Given the description of an element on the screen output the (x, y) to click on. 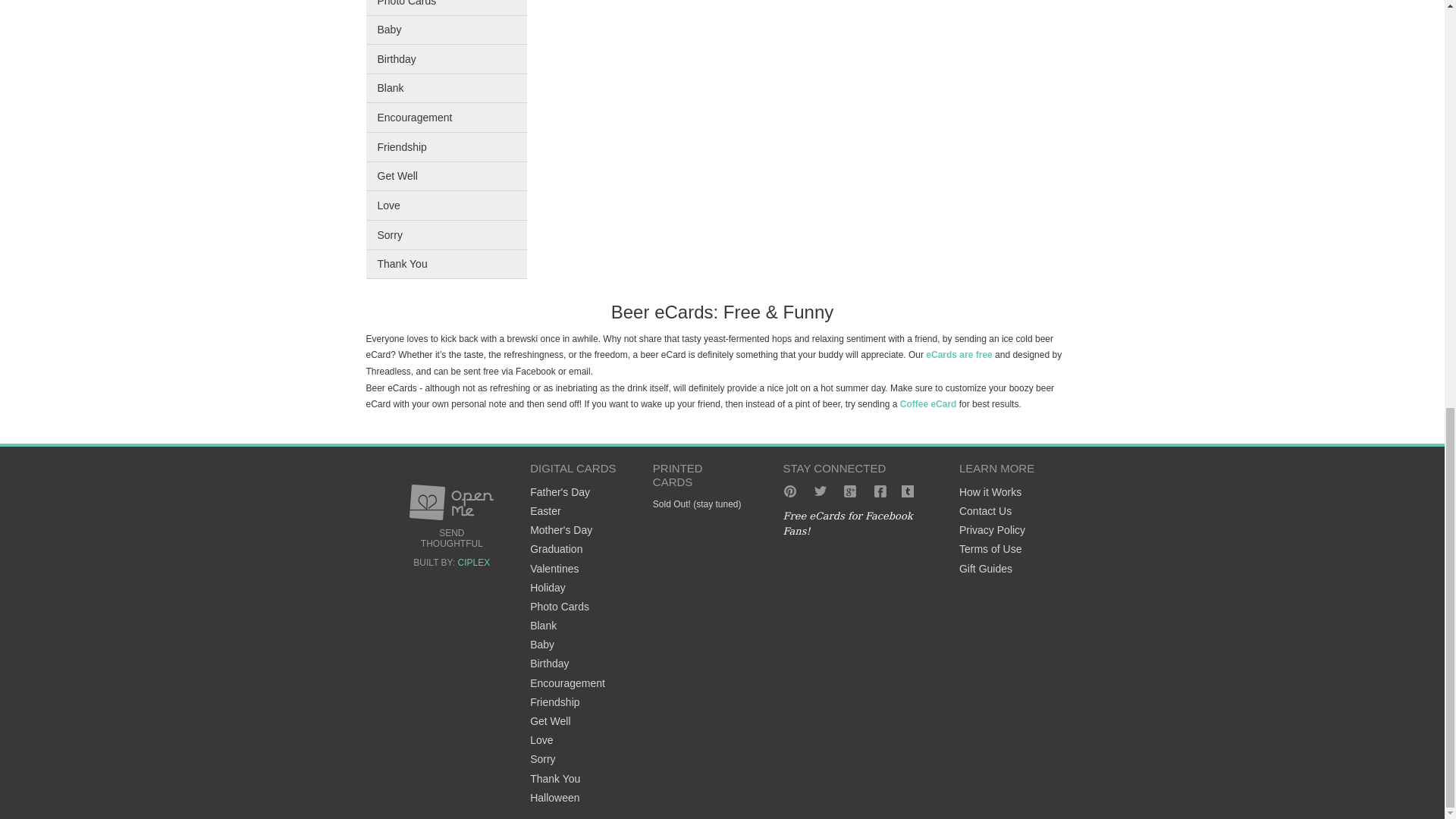
Follow on Pinterest (789, 491)
Follow on Facebook (879, 491)
Follow on Tumblr (909, 491)
Follow on Twitter (820, 491)
Follow on Google (849, 491)
